Given the description of an element on the screen output the (x, y) to click on. 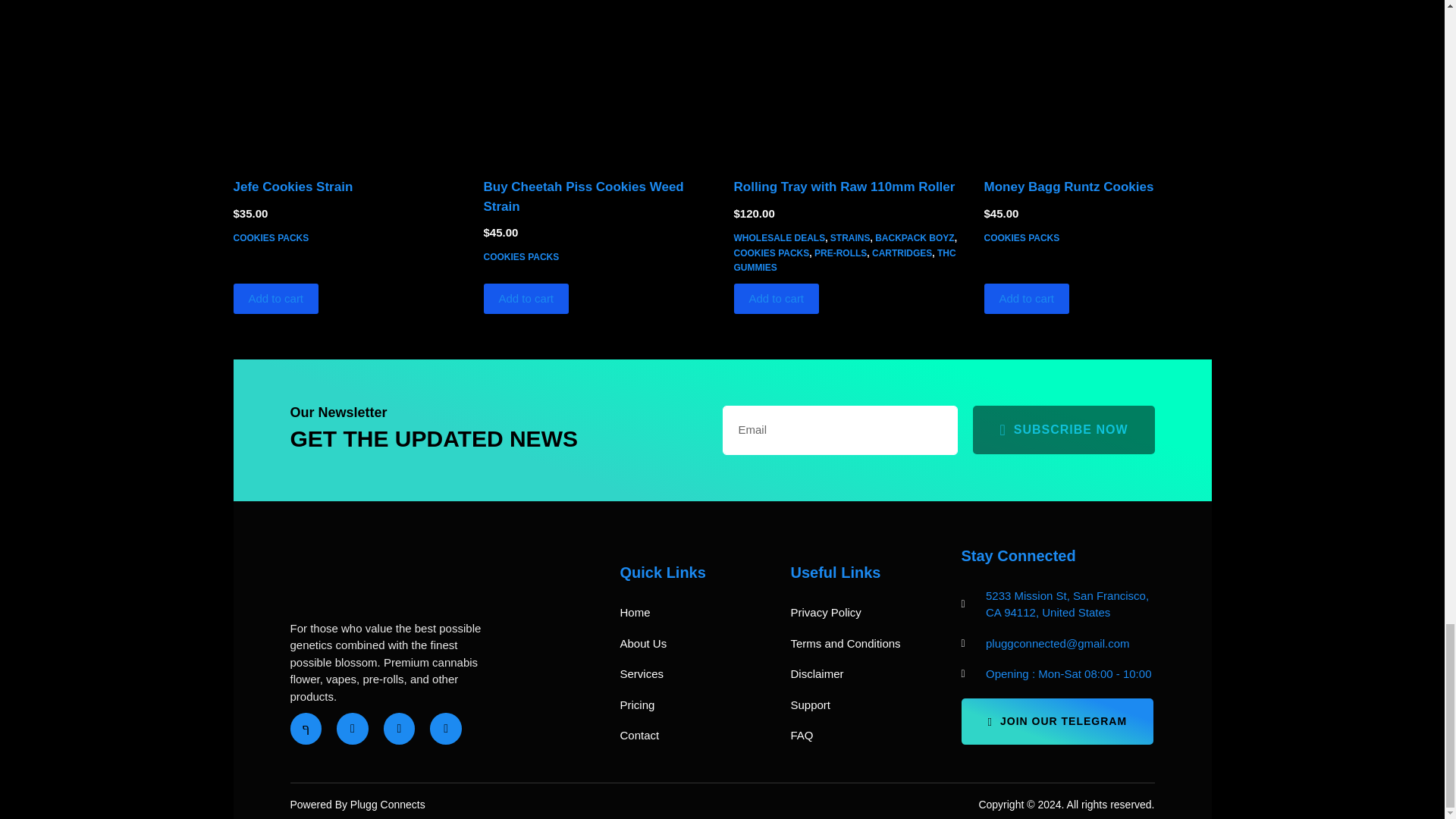
WhatsApp-Image-2019-11-04-at-6.27.12-PM-324x324 (597, 79)
WhatsApp-Image-2020-04-24-at-5.25.07-AM (1097, 79)
WhatsApp-Image-2020-05-05-at-4.50.19-PM (346, 79)
